Given the description of an element on the screen output the (x, y) to click on. 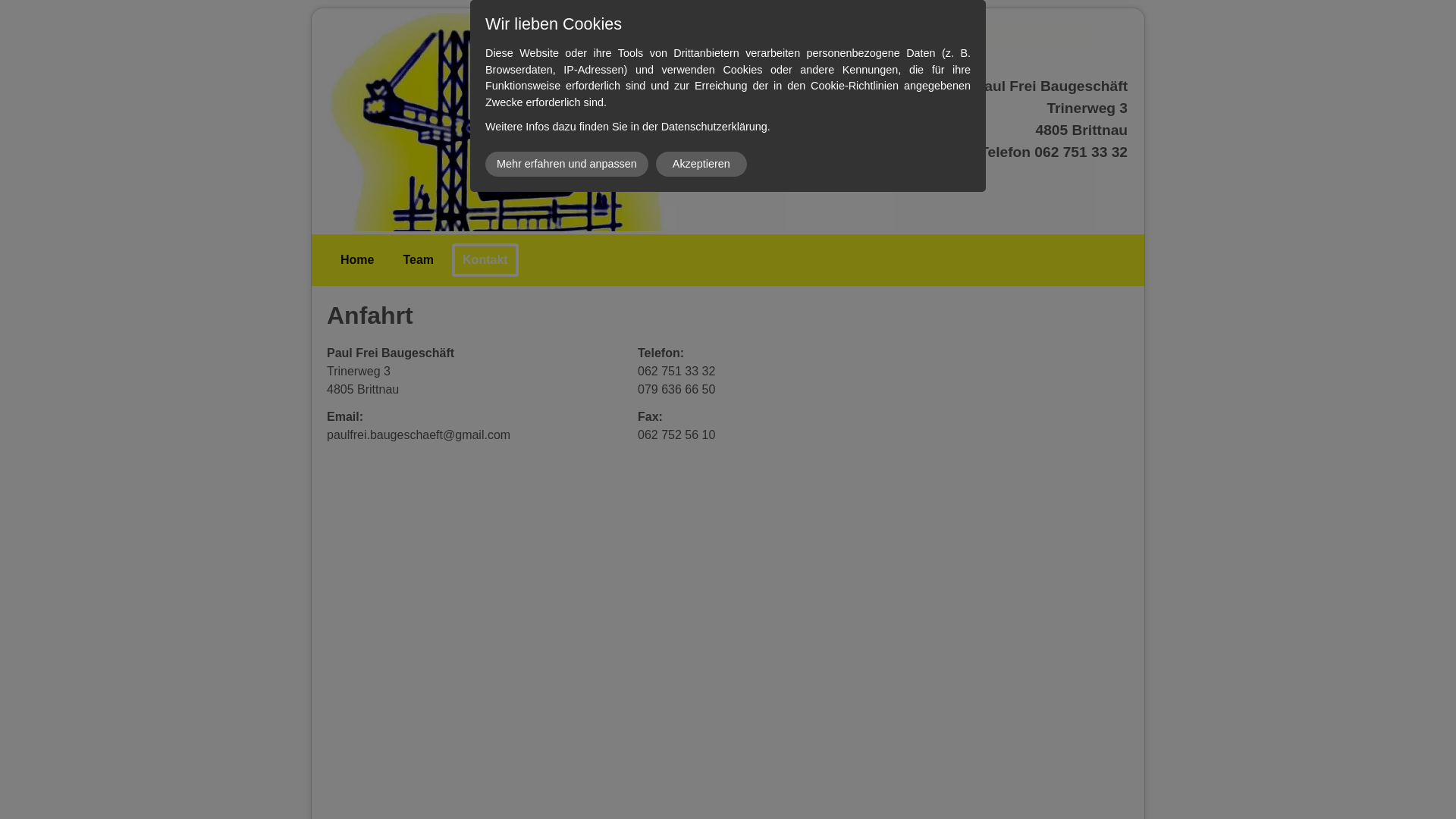
Mehr erfahren und anpassen Element type: text (566, 163)
Akzeptieren Element type: text (700, 163)
Home Element type: text (356, 259)
Kontakt Element type: text (484, 259)
Team Element type: text (418, 259)
